Given the description of an element on the screen output the (x, y) to click on. 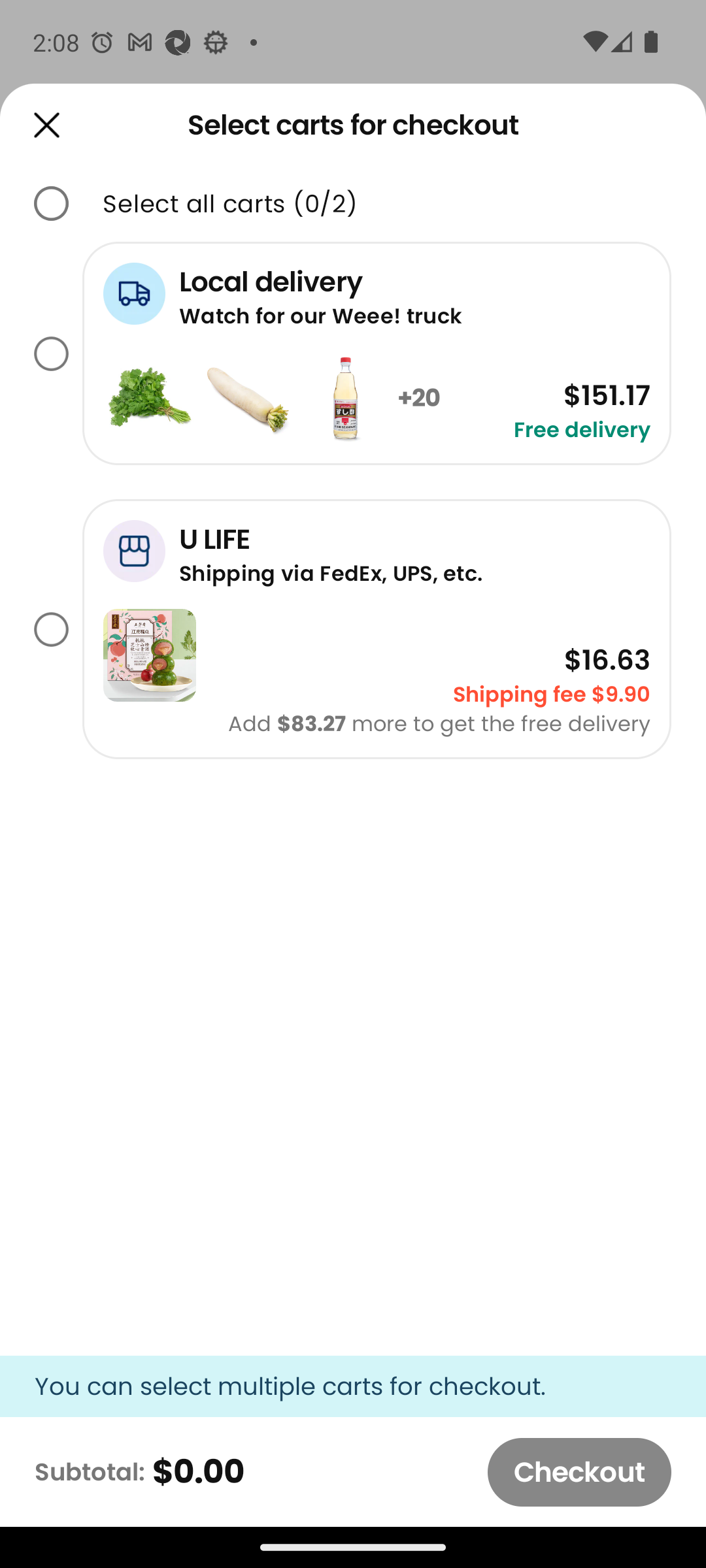
Select all carts (0/2) (229, 203)
Checkout (579, 1471)
